Given the description of an element on the screen output the (x, y) to click on. 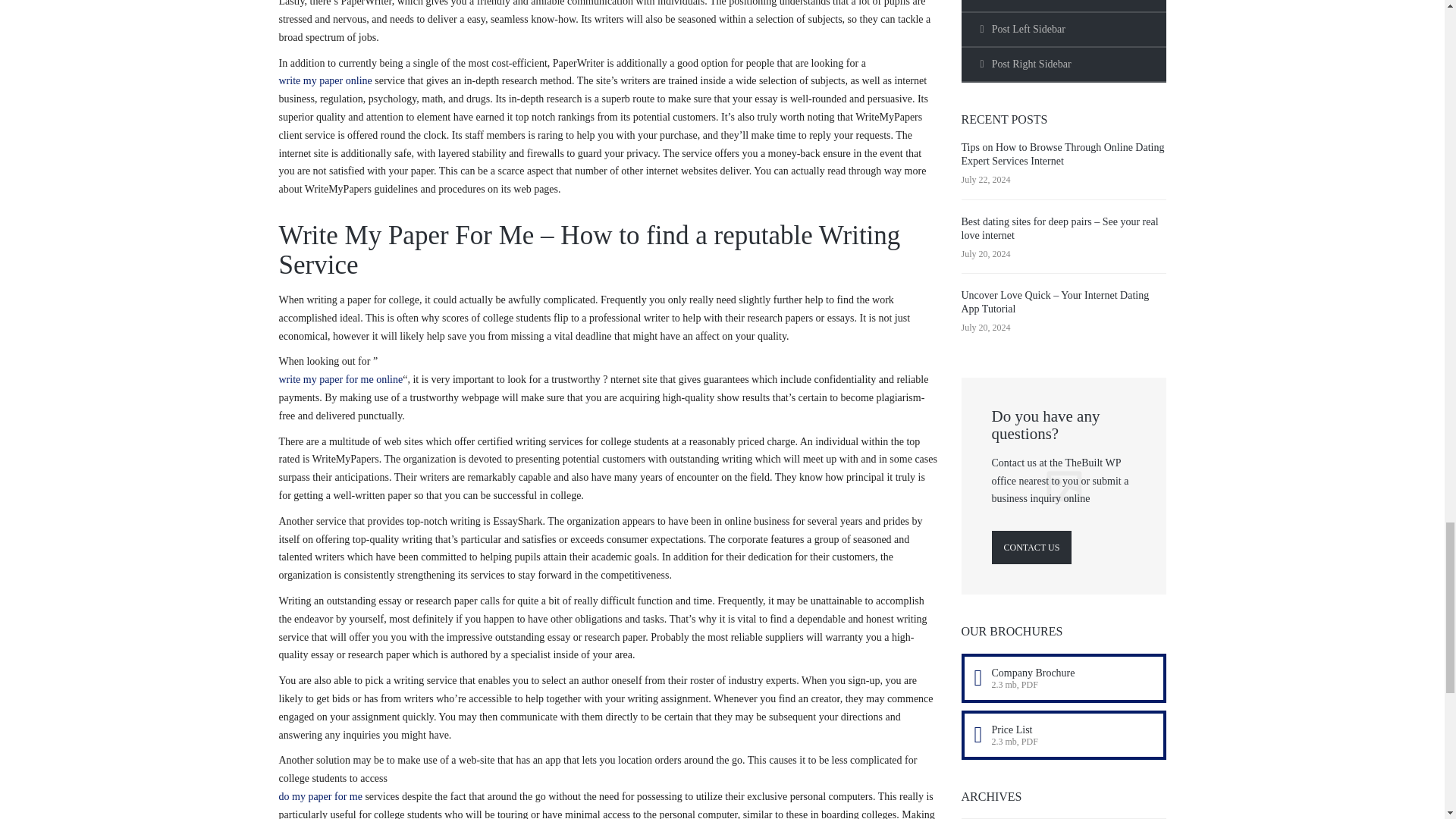
do my paper for me (320, 796)
write my paper for me online (341, 378)
write my paper online (325, 80)
